Given the description of an element on the screen output the (x, y) to click on. 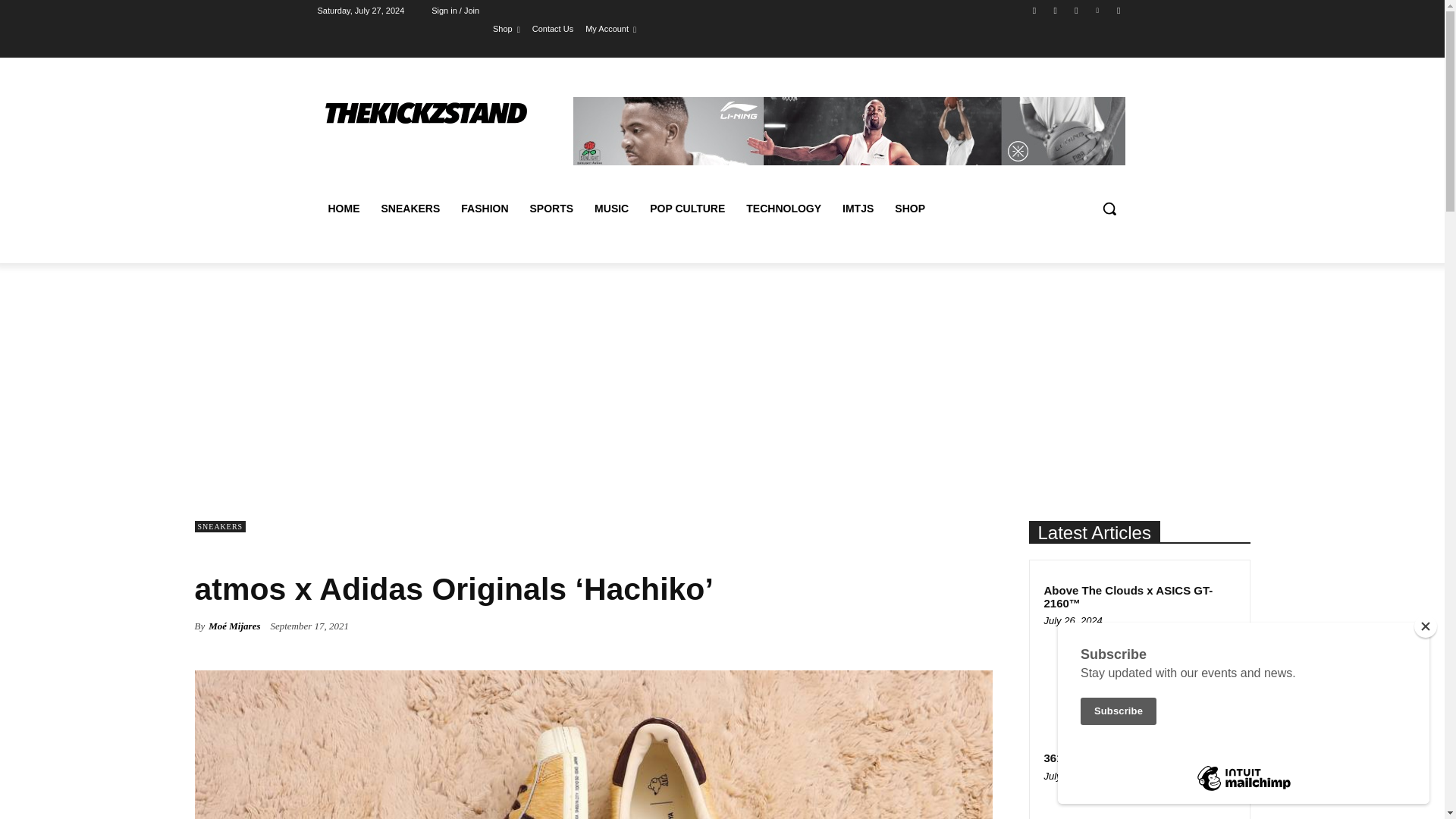
HOME (343, 208)
Contact Us (552, 28)
Instagram (1055, 9)
Shop (506, 28)
Vimeo (1097, 9)
My Account (610, 28)
atmos x Adidas Originals 'Hachiko' (592, 744)
Twitter (1075, 9)
Facebook (1034, 9)
Youtube (1117, 9)
